Given the description of an element on the screen output the (x, y) to click on. 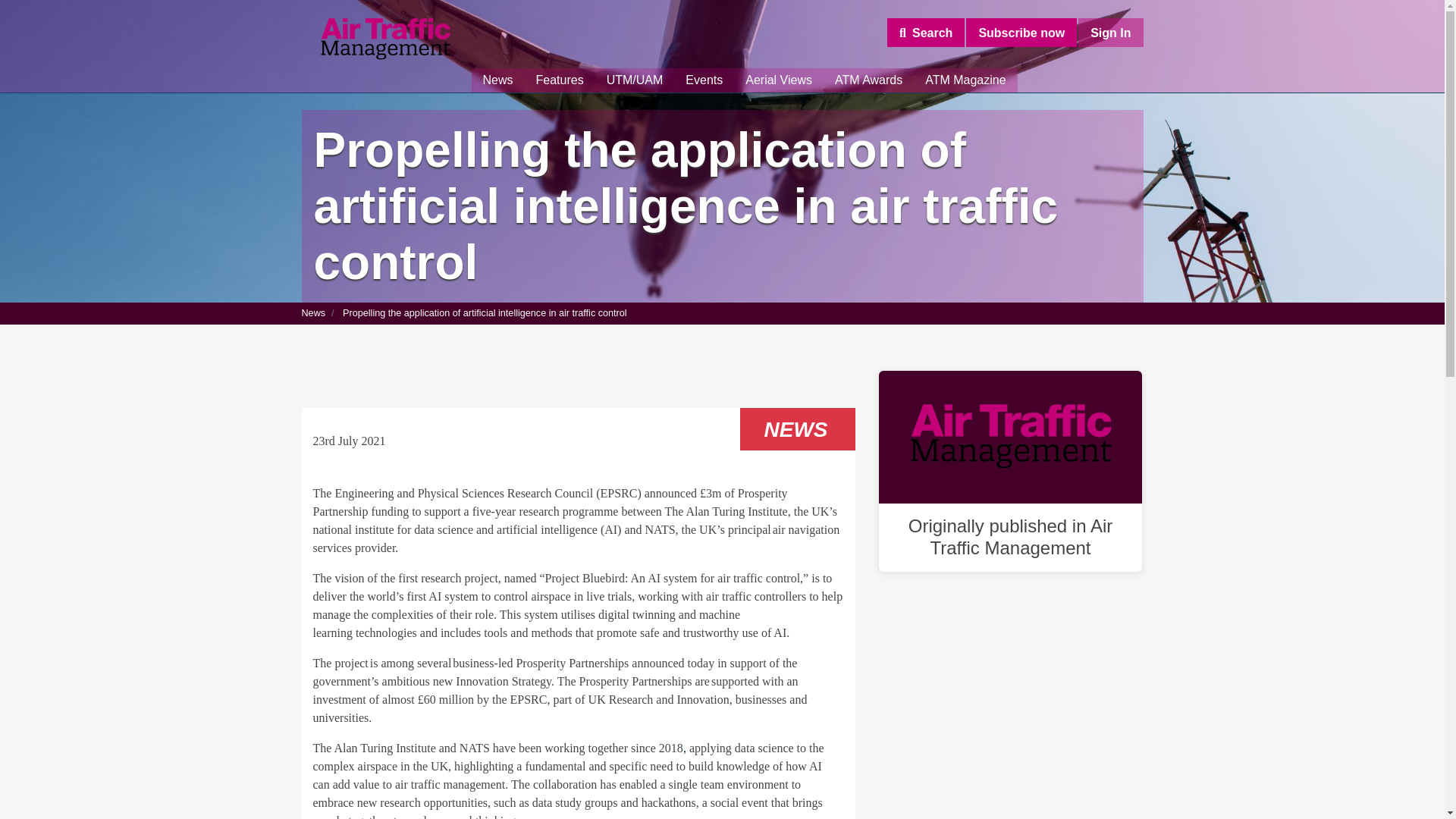
Home (384, 39)
Aerial Views (778, 79)
News (497, 79)
Sign into the site (1110, 32)
Sign In (1110, 32)
Subscribe now (1021, 32)
ATM Magazine (965, 79)
Events (703, 79)
News (313, 312)
